Given the description of an element on the screen output the (x, y) to click on. 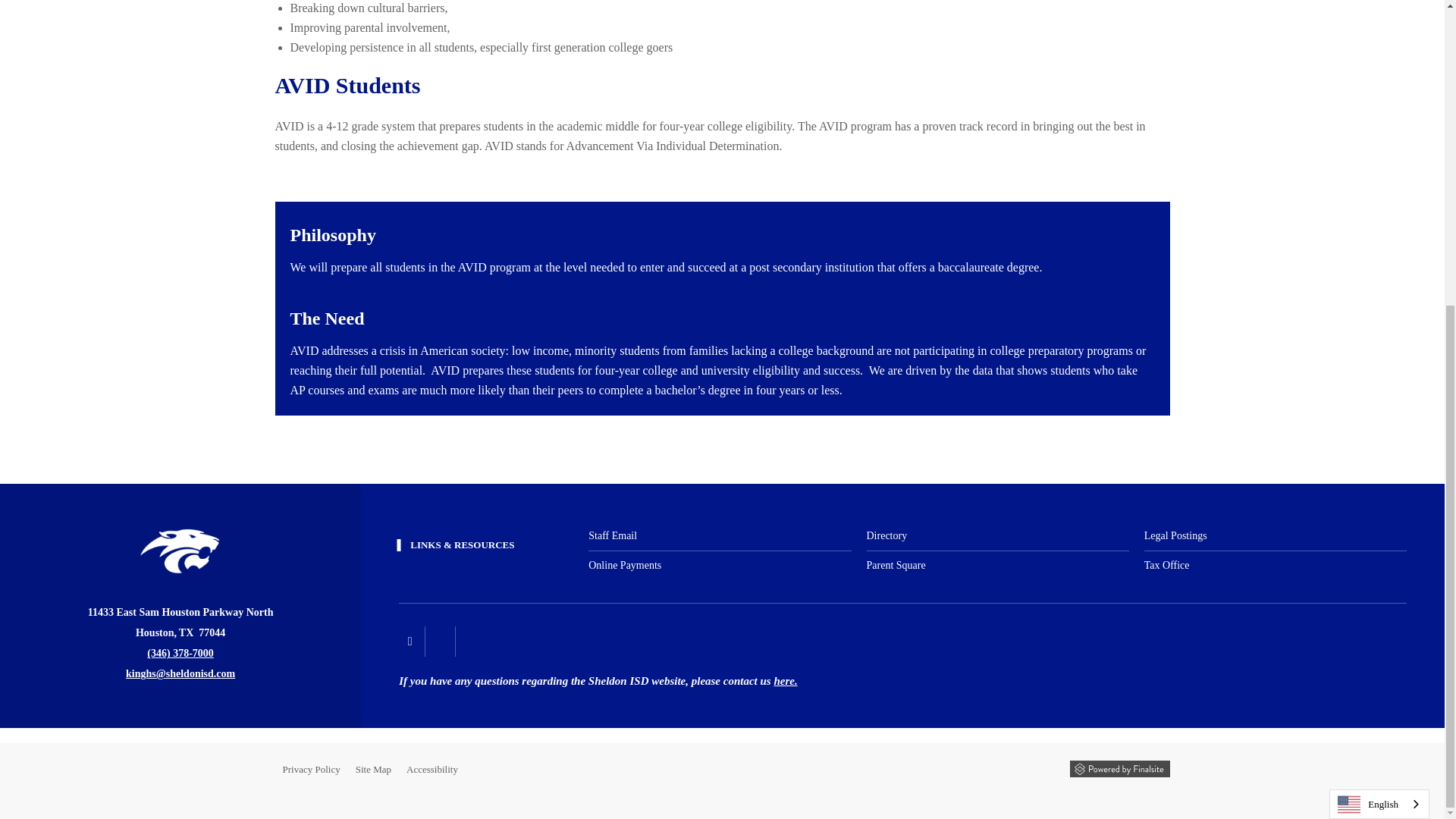
Email (179, 673)
Powered by Finalsite opens in a new window (1118, 768)
